Given the description of an element on the screen output the (x, y) to click on. 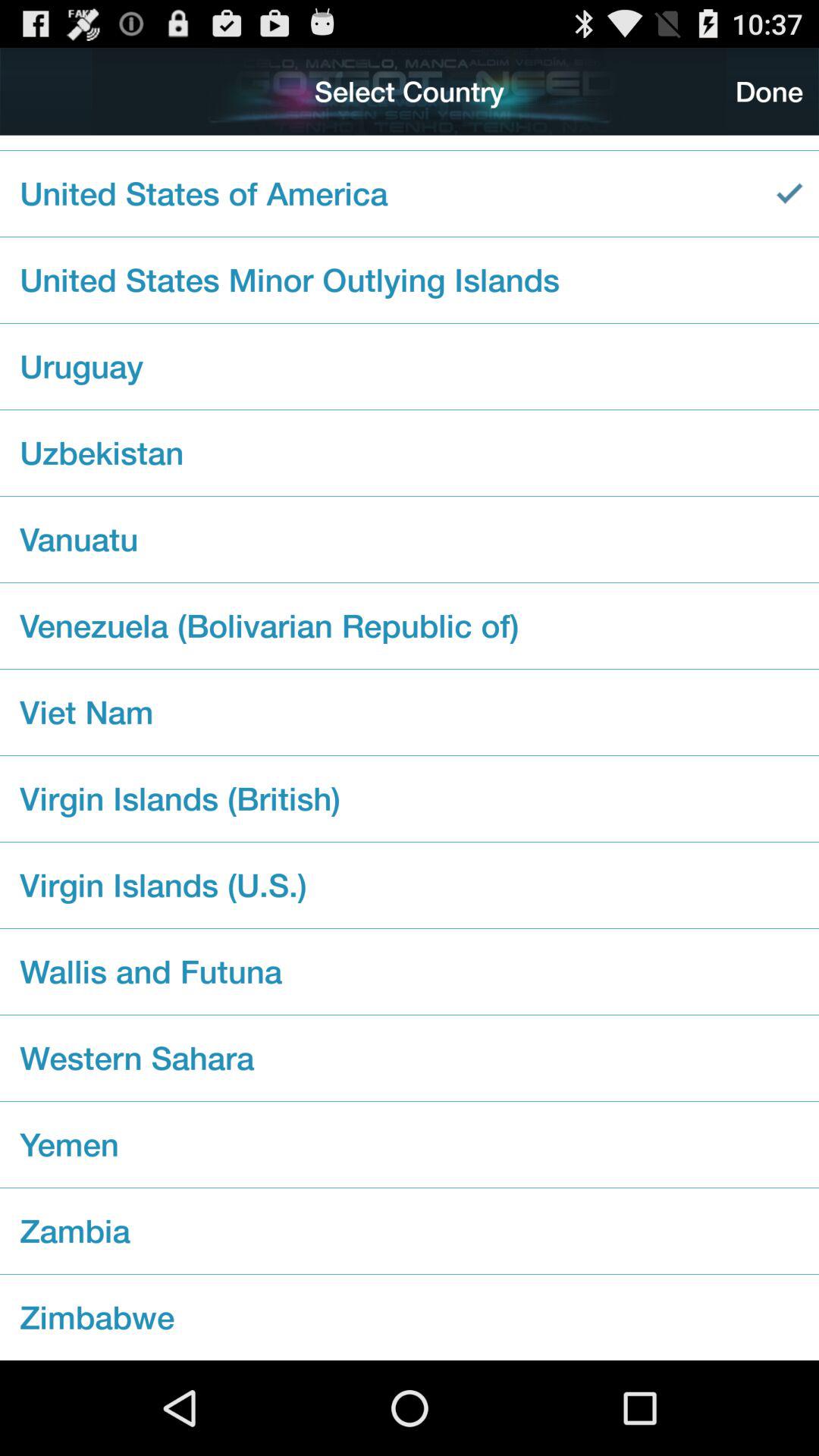
open icon above the venezuela bolivarian republic checkbox (409, 539)
